Given the description of an element on the screen output the (x, y) to click on. 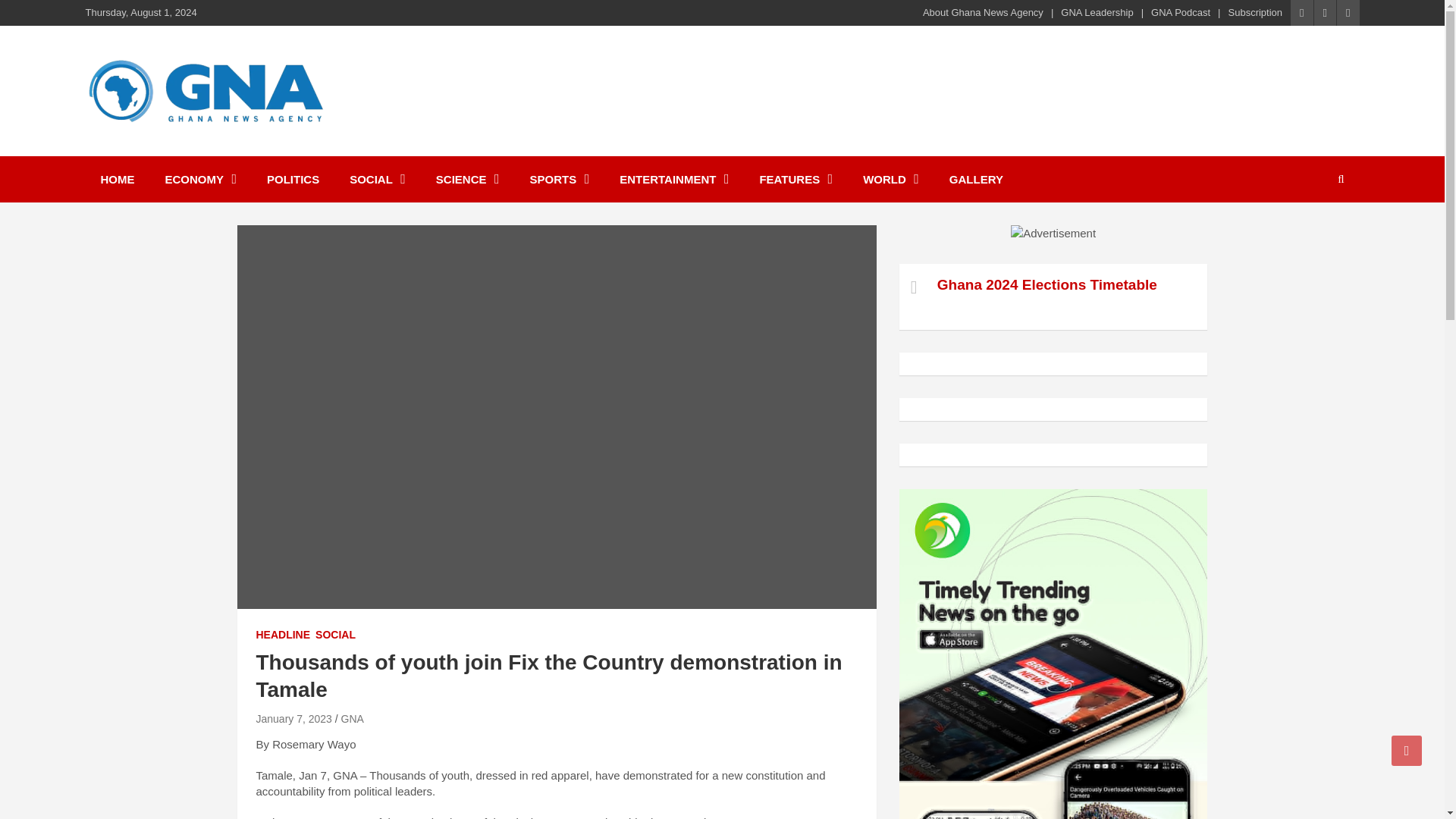
Ghana News Agency (234, 145)
ENTERTAINMENT (674, 179)
GALLERY (975, 179)
GNA Podcast (1180, 12)
WORLD (890, 179)
GNA Leadership (1096, 12)
FEATURES (795, 179)
ECONOMY (200, 179)
HEADLINE (283, 635)
SOCIAL (377, 179)
HOME (116, 179)
About Ghana News Agency (983, 12)
SCIENCE (467, 179)
SPORTS (560, 179)
